Given the description of an element on the screen output the (x, y) to click on. 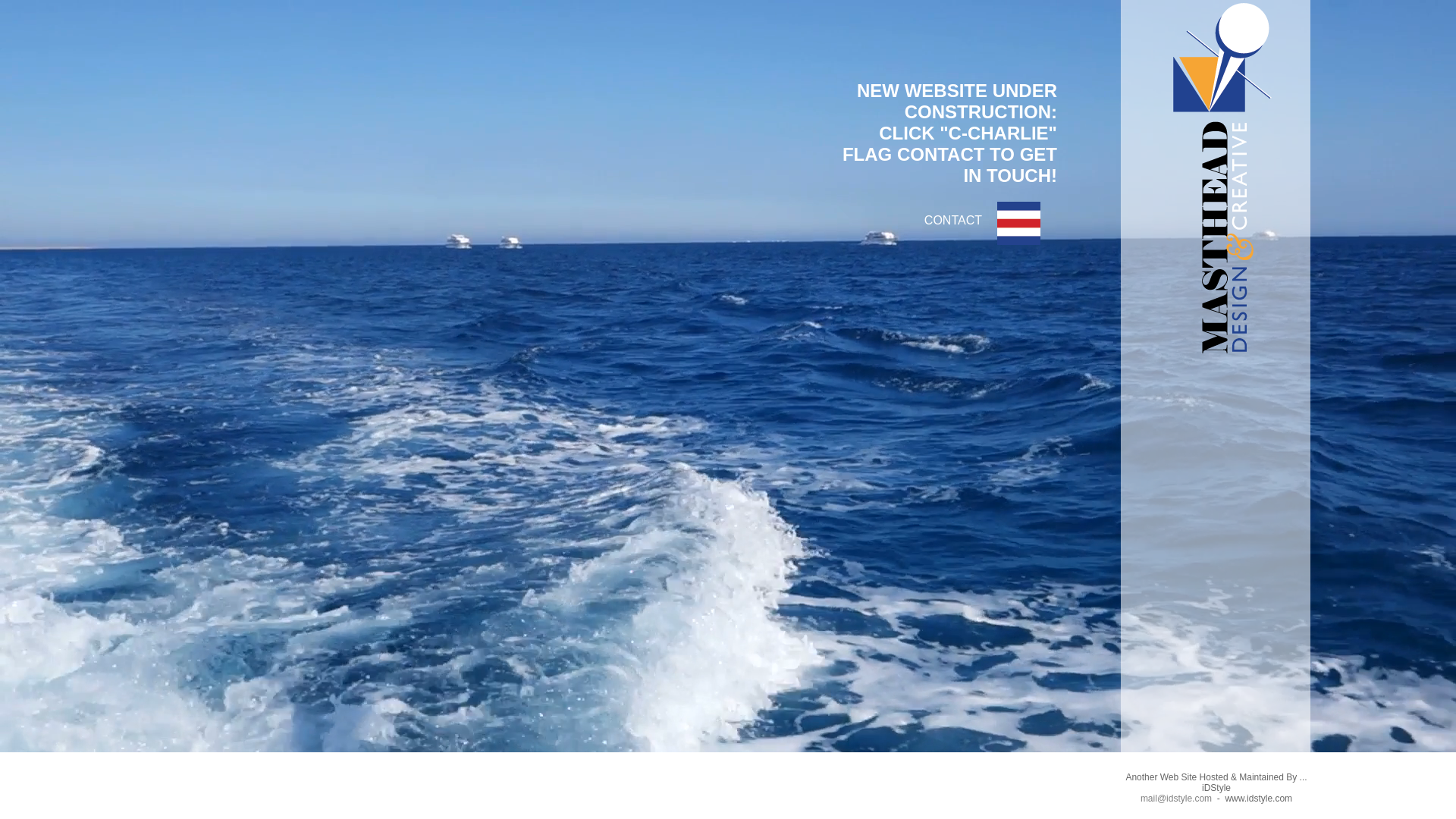
mail@idstyle.com Element type: text (1175, 798)
CONTACT Element type: text (1018, 240)
www.idstyle.com Element type: text (1258, 798)
